Given the description of an element on the screen output the (x, y) to click on. 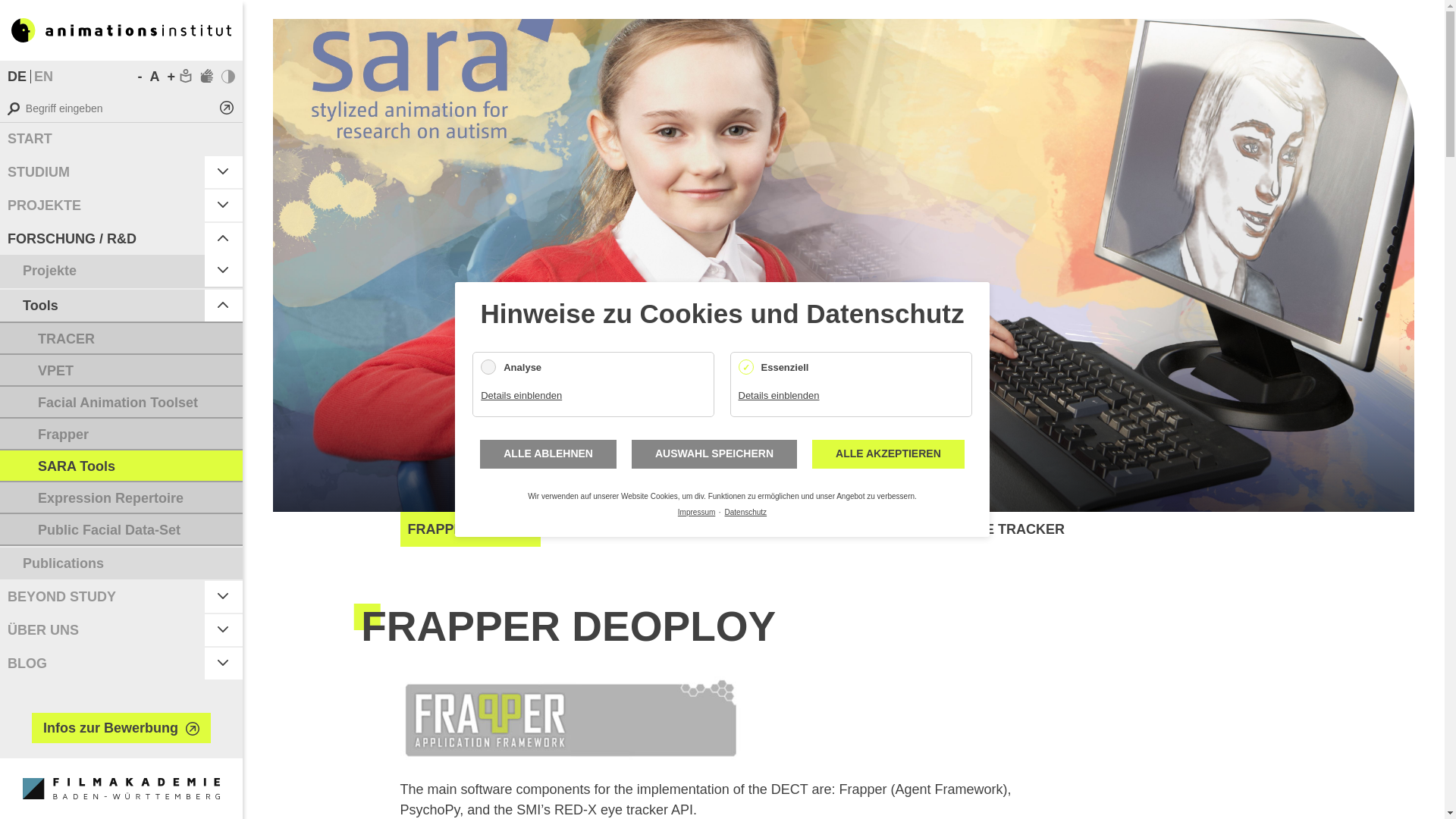
EN (42, 76)
Suchen (225, 107)
TOGGLE SUBMENU (224, 205)
TOGGLE SUBMENU (224, 172)
Toggle submenu (224, 270)
STUDIUM (102, 172)
TOGGLE SUBMENU (224, 238)
SARA Tools (42, 76)
AI-Logo (121, 29)
START (121, 138)
